Given the description of an element on the screen output the (x, y) to click on. 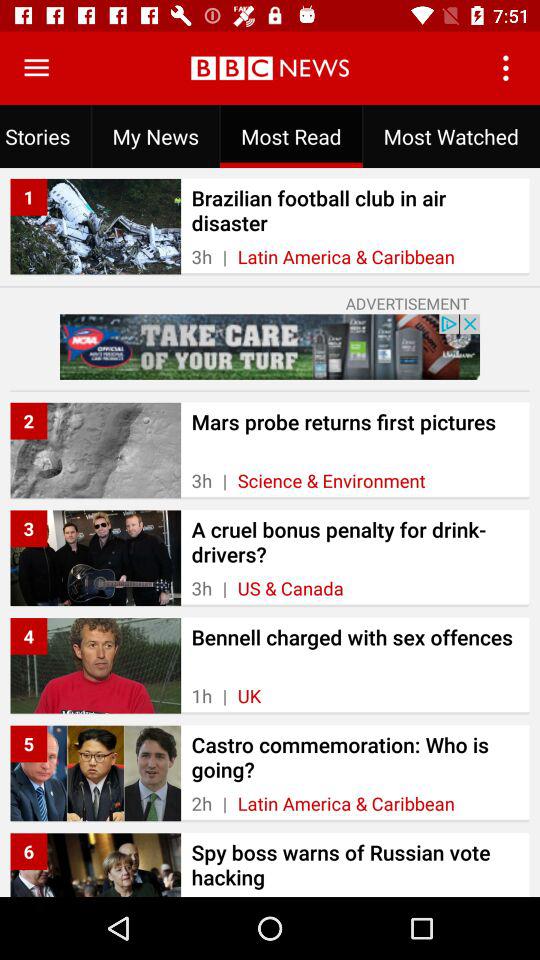
announcement (270, 346)
